Given the description of an element on the screen output the (x, y) to click on. 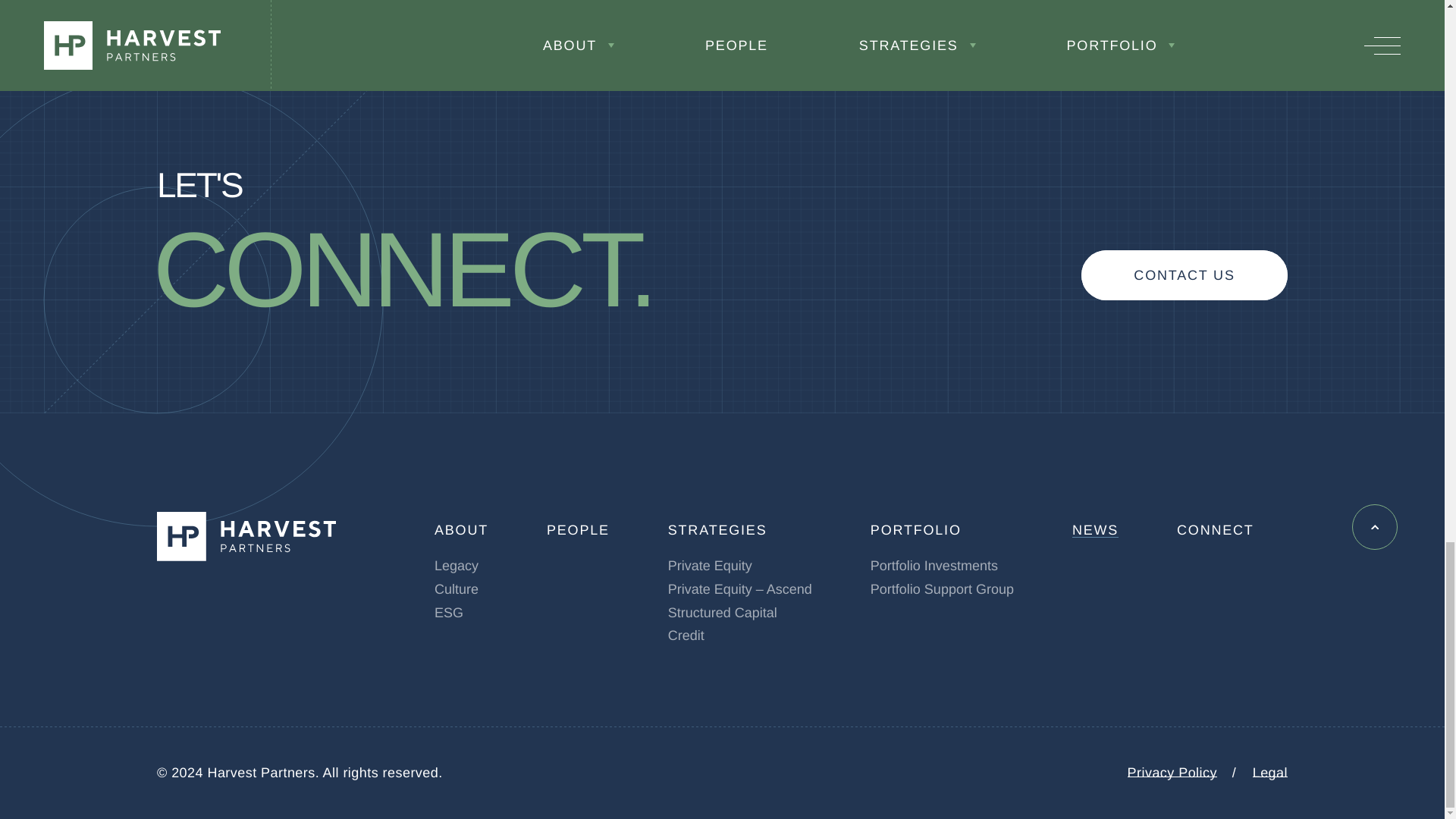
STRATEGIES (717, 529)
Structured Capital (722, 612)
ABOUT (460, 529)
PEOPLE (578, 529)
Culture (456, 589)
Legacy (456, 565)
Portfolio Investments (933, 565)
Credit (686, 635)
NEWS (1094, 529)
Portfolio Support Group (941, 589)
ESG (448, 612)
Private Equity (710, 565)
CONTACT US (1184, 275)
PORTFOLIO (915, 529)
